Given the description of an element on the screen output the (x, y) to click on. 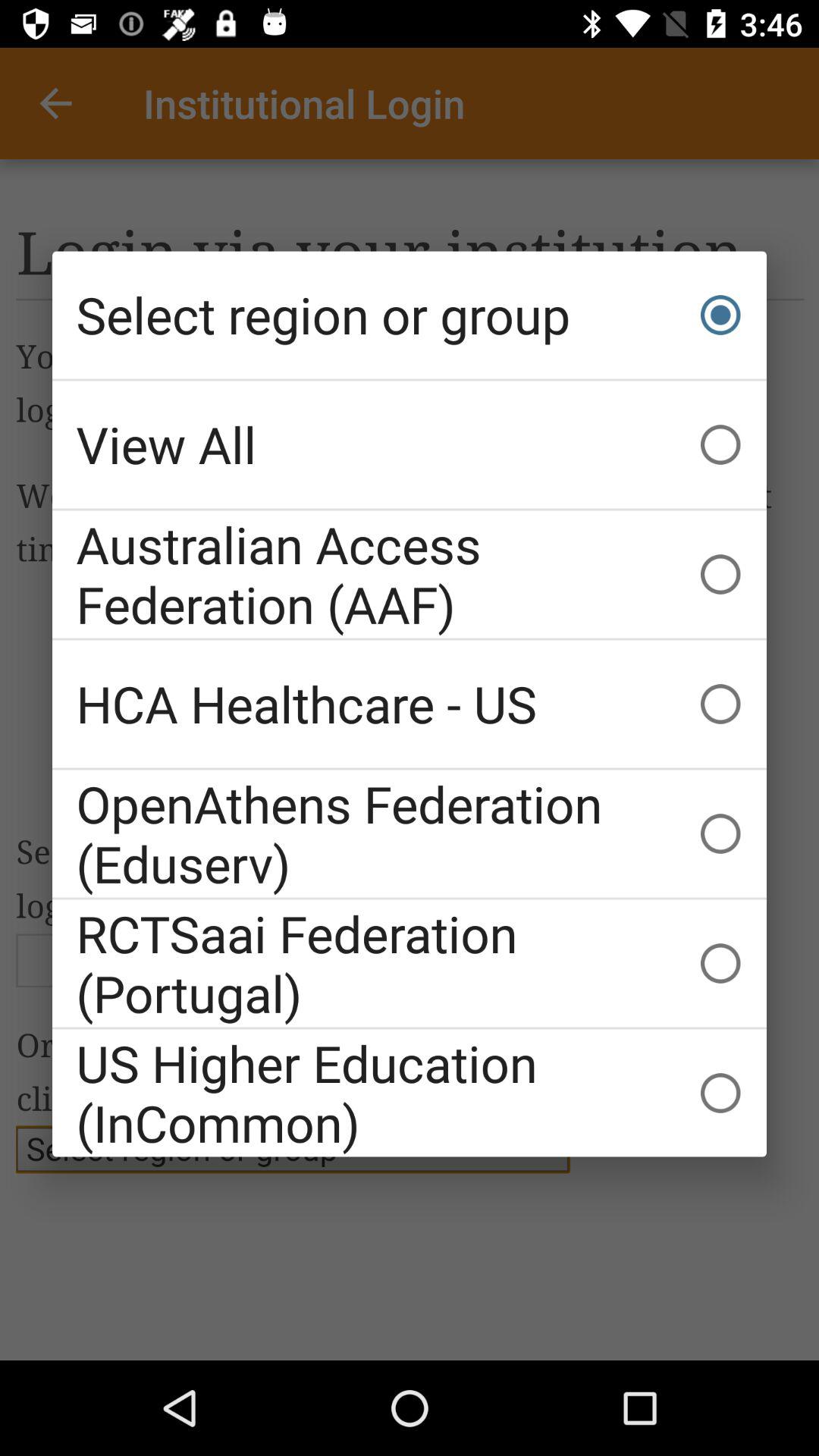
choose the icon below view all icon (409, 574)
